Given the description of an element on the screen output the (x, y) to click on. 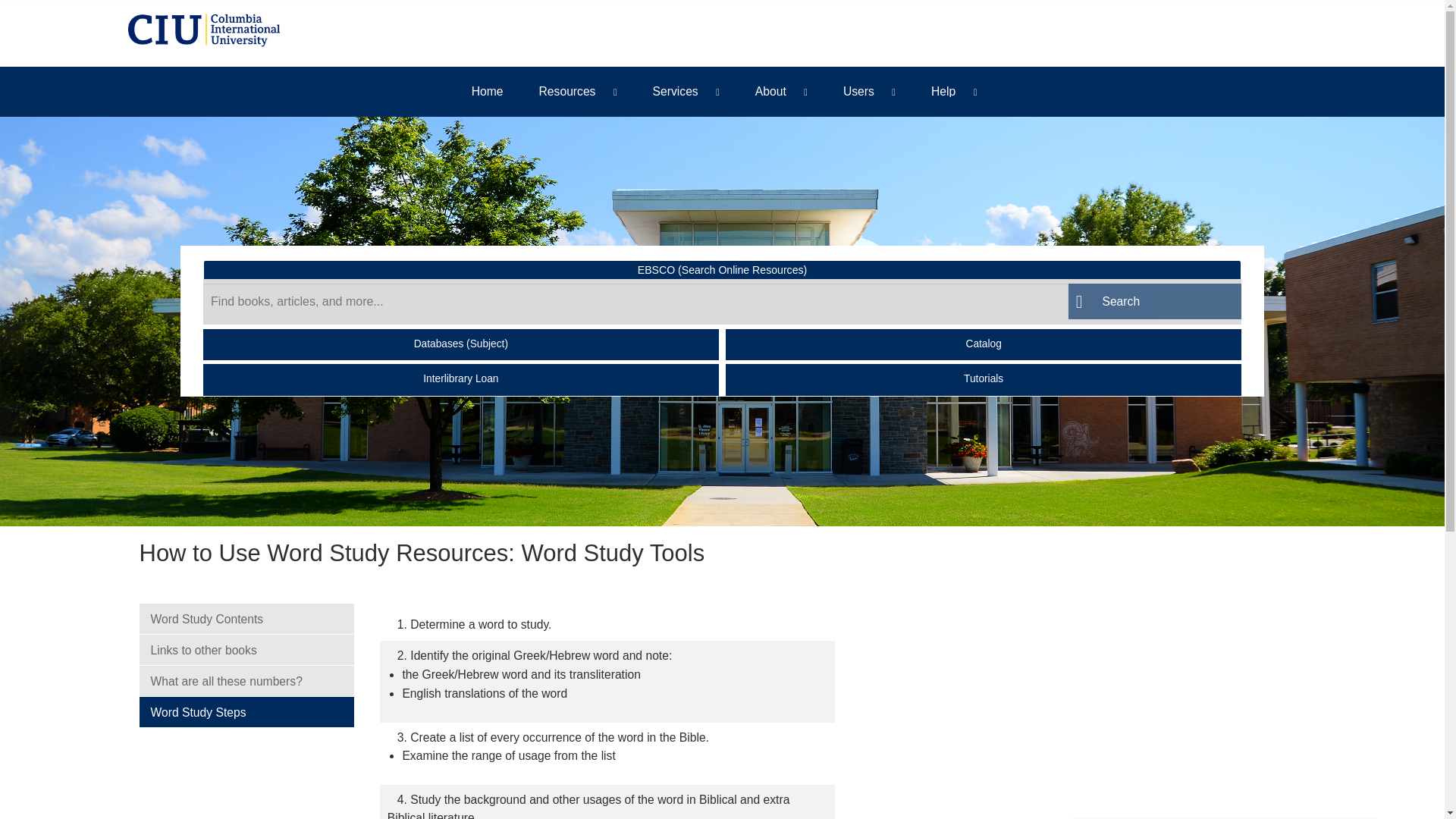
Search (1154, 301)
